Given the description of an element on the screen output the (x, y) to click on. 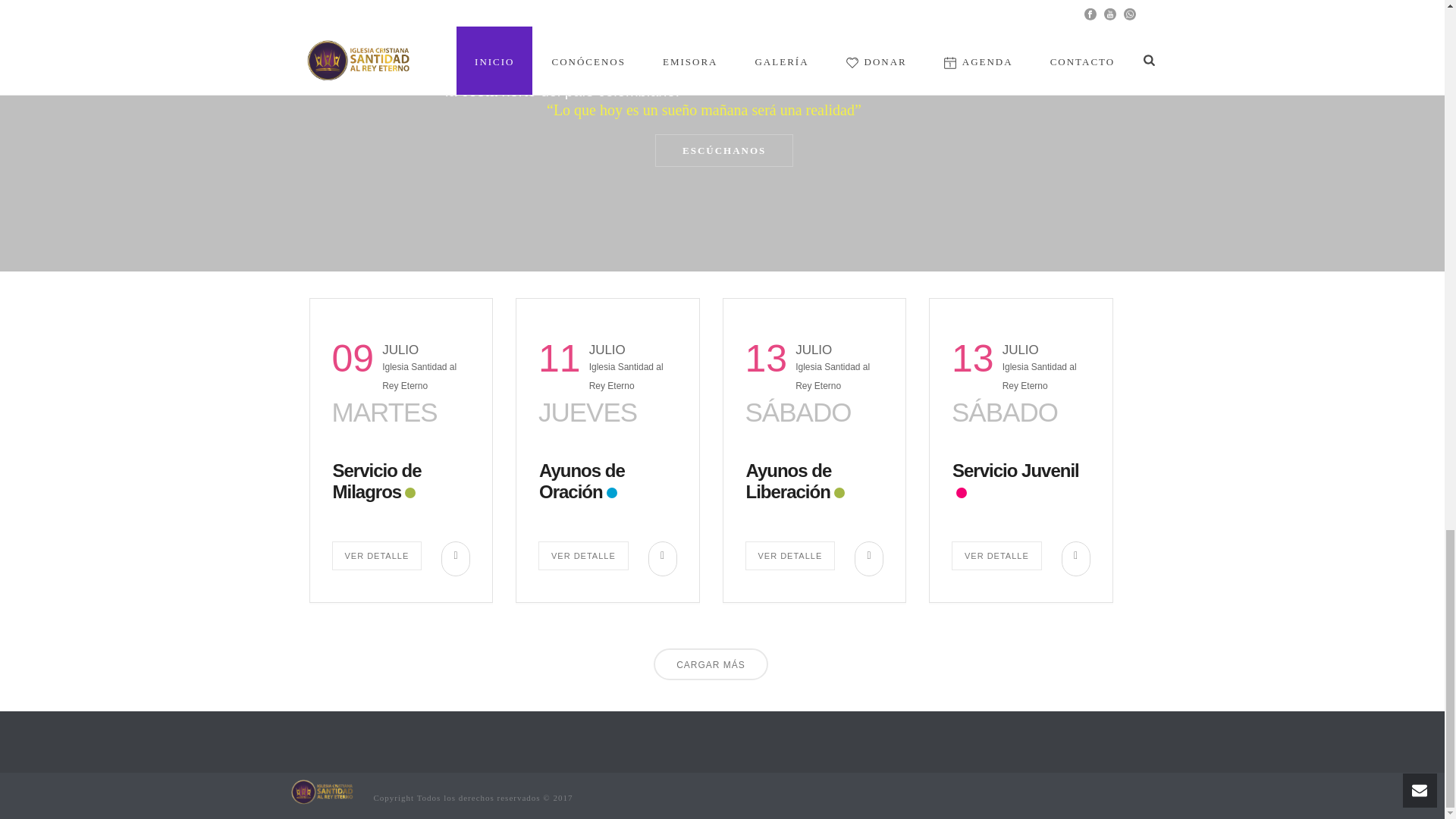
Servicio de Milagros (375, 481)
VER DETALLE (376, 555)
